Given the description of an element on the screen output the (x, y) to click on. 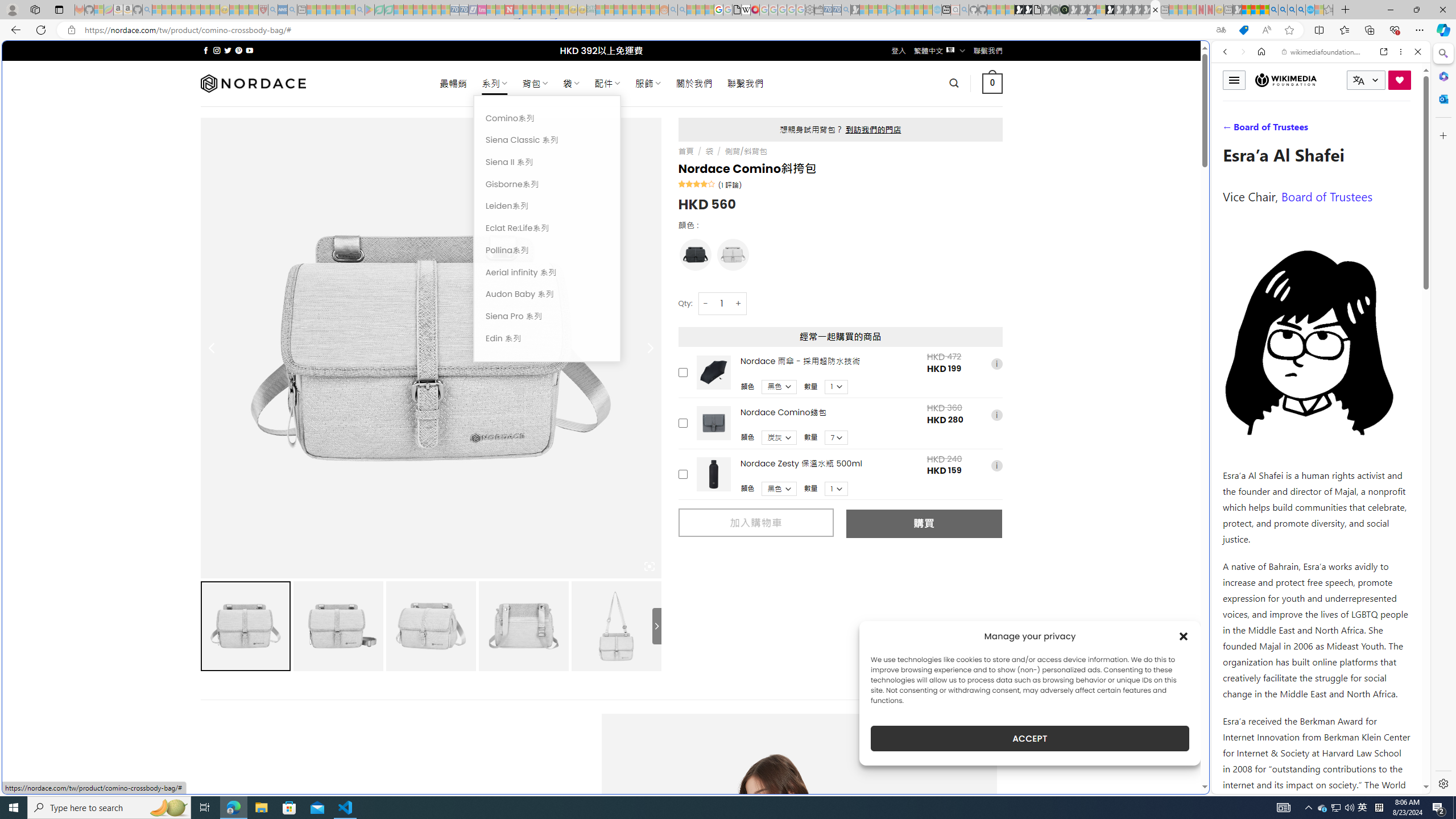
Search Filter, Search Tools (1350, 129)
Sign in to your account - Sleeping (1100, 9)
utah sues federal government - Search (922, 389)
WEB   (1230, 130)
Class: i icon icon-translate language-switcher__icon (1358, 80)
